Given the description of an element on the screen output the (x, y) to click on. 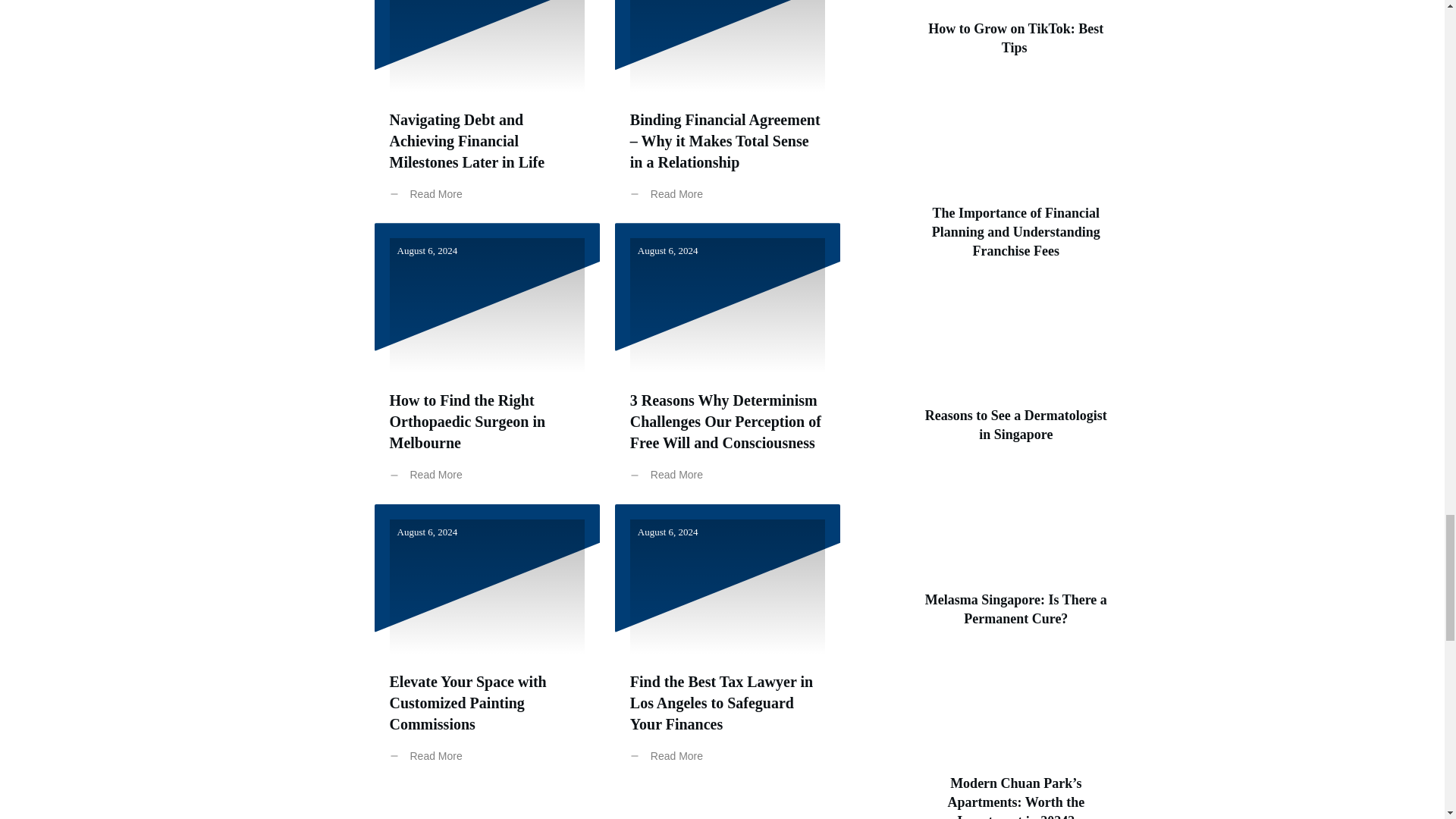
How to Find the Right Orthopaedic Surgeon in Melbourne (468, 421)
Elevate Your Space with Customized Painting Commissions (468, 702)
